Given the description of an element on the screen output the (x, y) to click on. 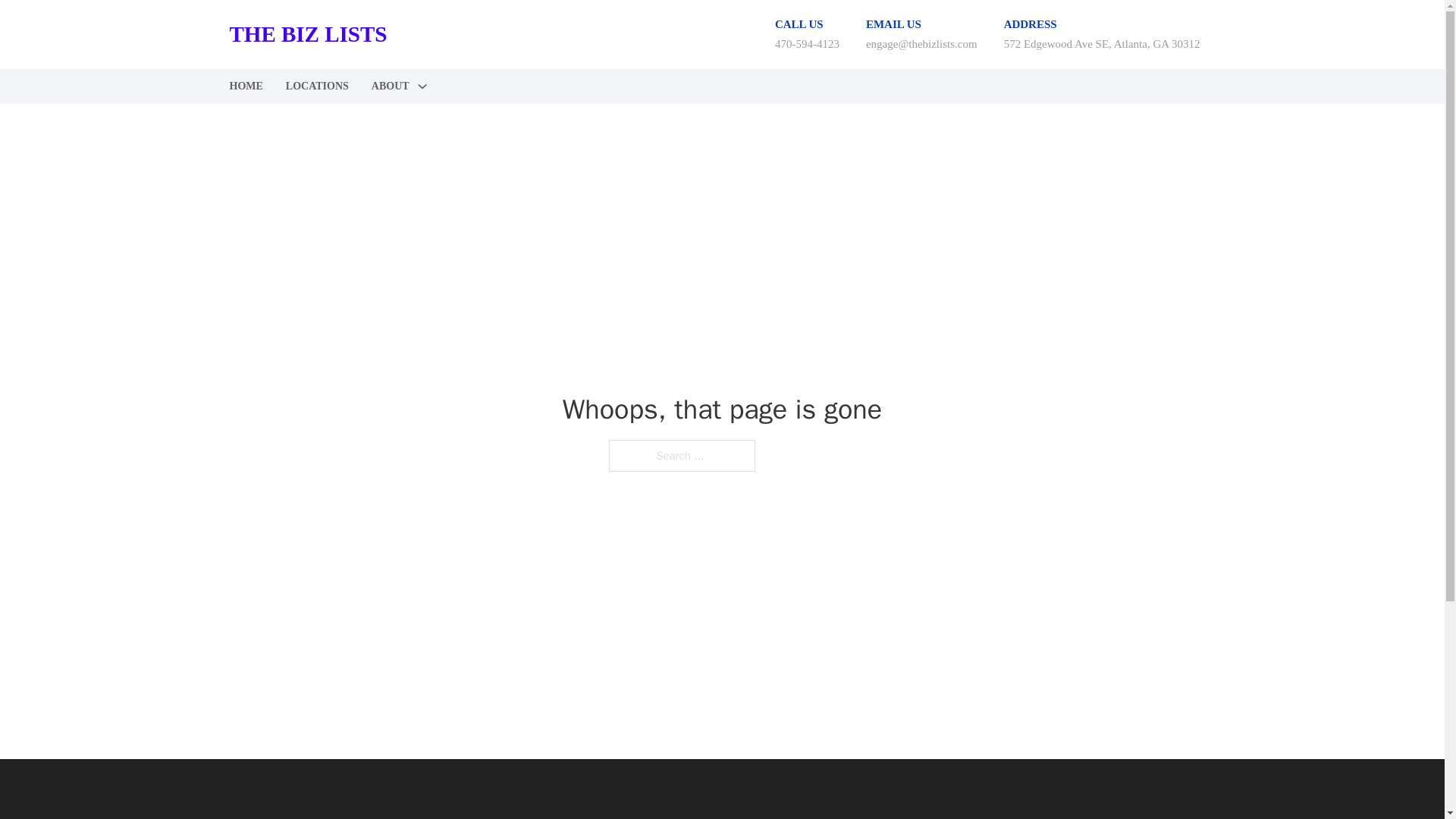
HOME (245, 85)
LOCATIONS (317, 85)
THE BIZ LISTS (307, 817)
470-594-4123 (807, 43)
THE BIZ LISTS (307, 34)
